Given the description of an element on the screen output the (x, y) to click on. 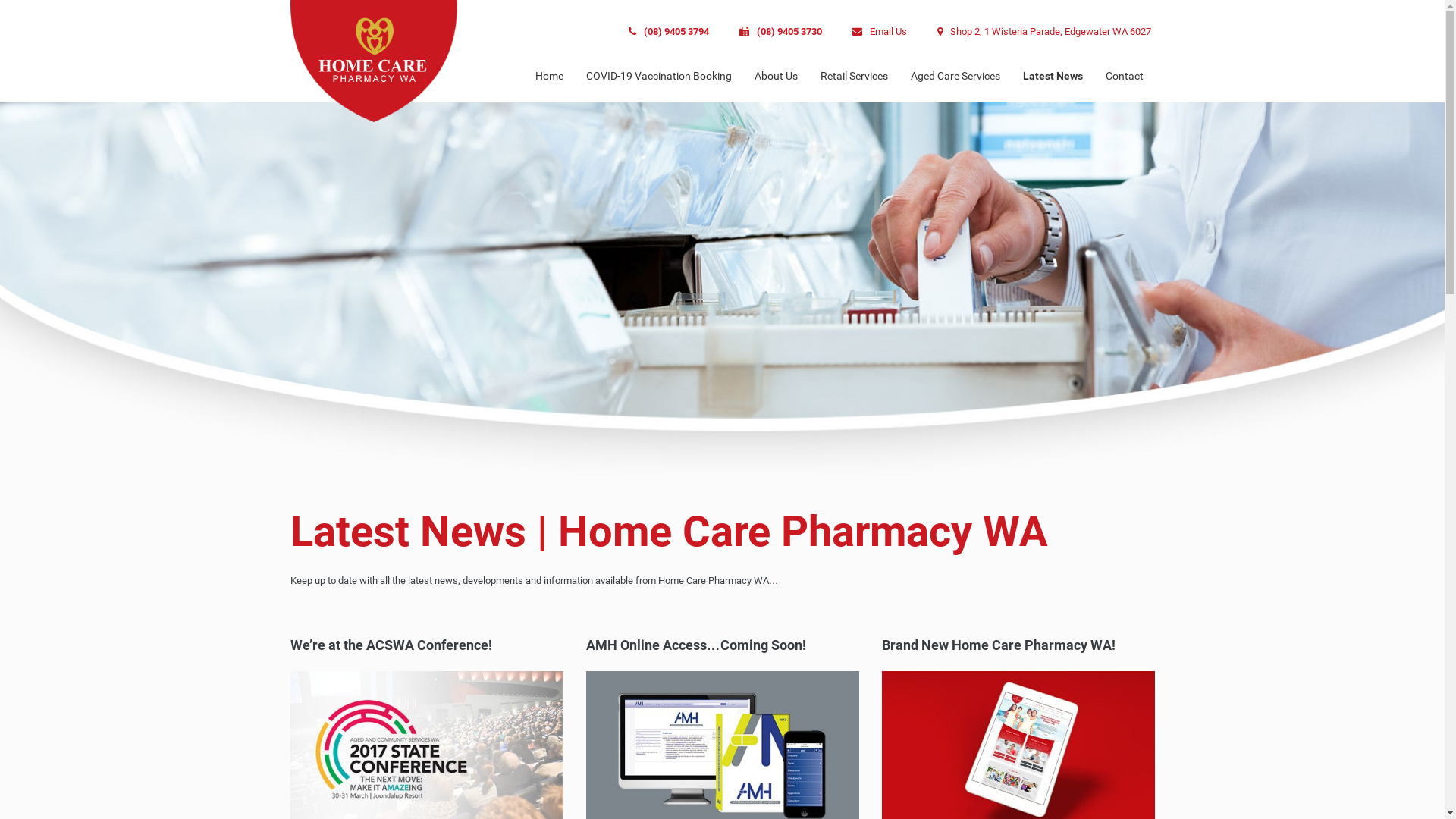
(08) 9405 3730 Element type: text (779, 31)
Retail Services Element type: text (853, 75)
Brand New Home Care Pharmacy WA! Element type: hover (1017, 751)
Home Care Pharmacy WA Element type: text (55, 9)
Latest News Element type: text (1052, 75)
Email Us Element type: text (879, 31)
Brand New Home Care Pharmacy WA! Element type: text (997, 644)
(08) 9405 3794 Element type: text (667, 31)
Skip to content Element type: text (0, 0)
COVID-19 Vaccination Booking Element type: text (658, 75)
Home Element type: text (548, 75)
Aged Care Services Element type: text (955, 75)
About Us Element type: text (776, 75)
Contact Element type: text (1123, 75)
